Given the description of an element on the screen output the (x, y) to click on. 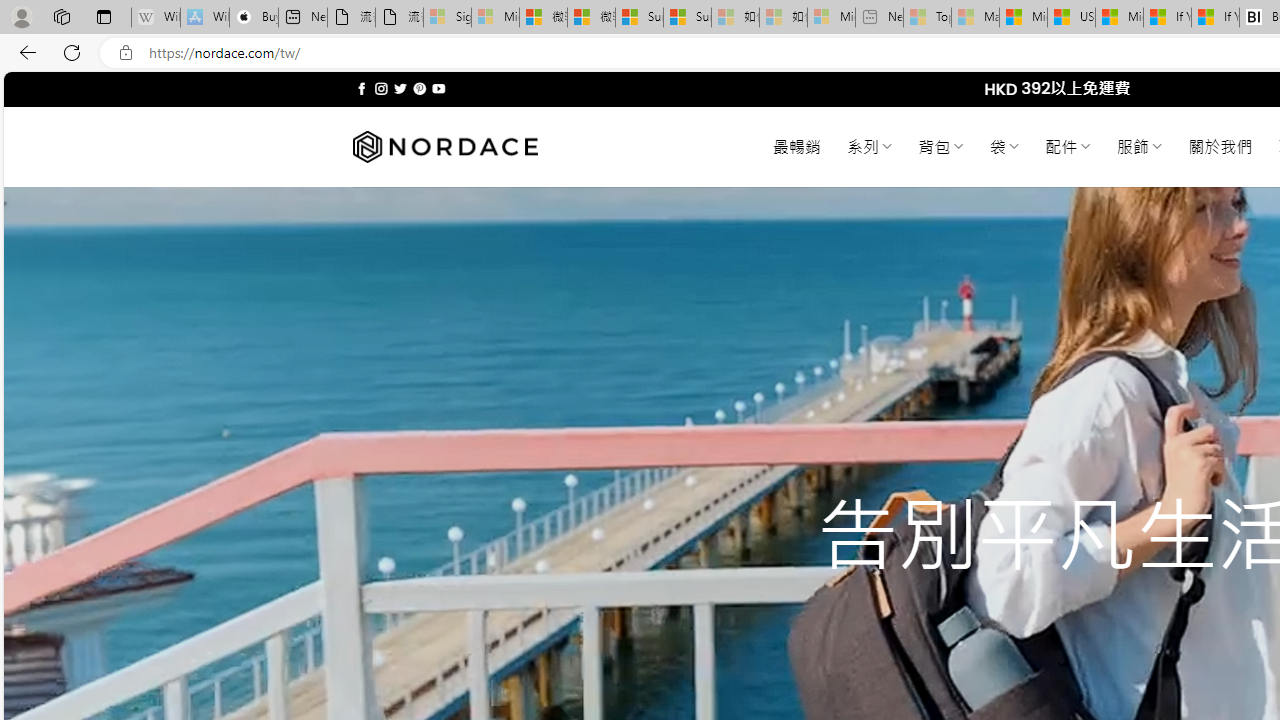
Marine life - MSN - Sleeping (975, 17)
